Given the description of an element on the screen output the (x, y) to click on. 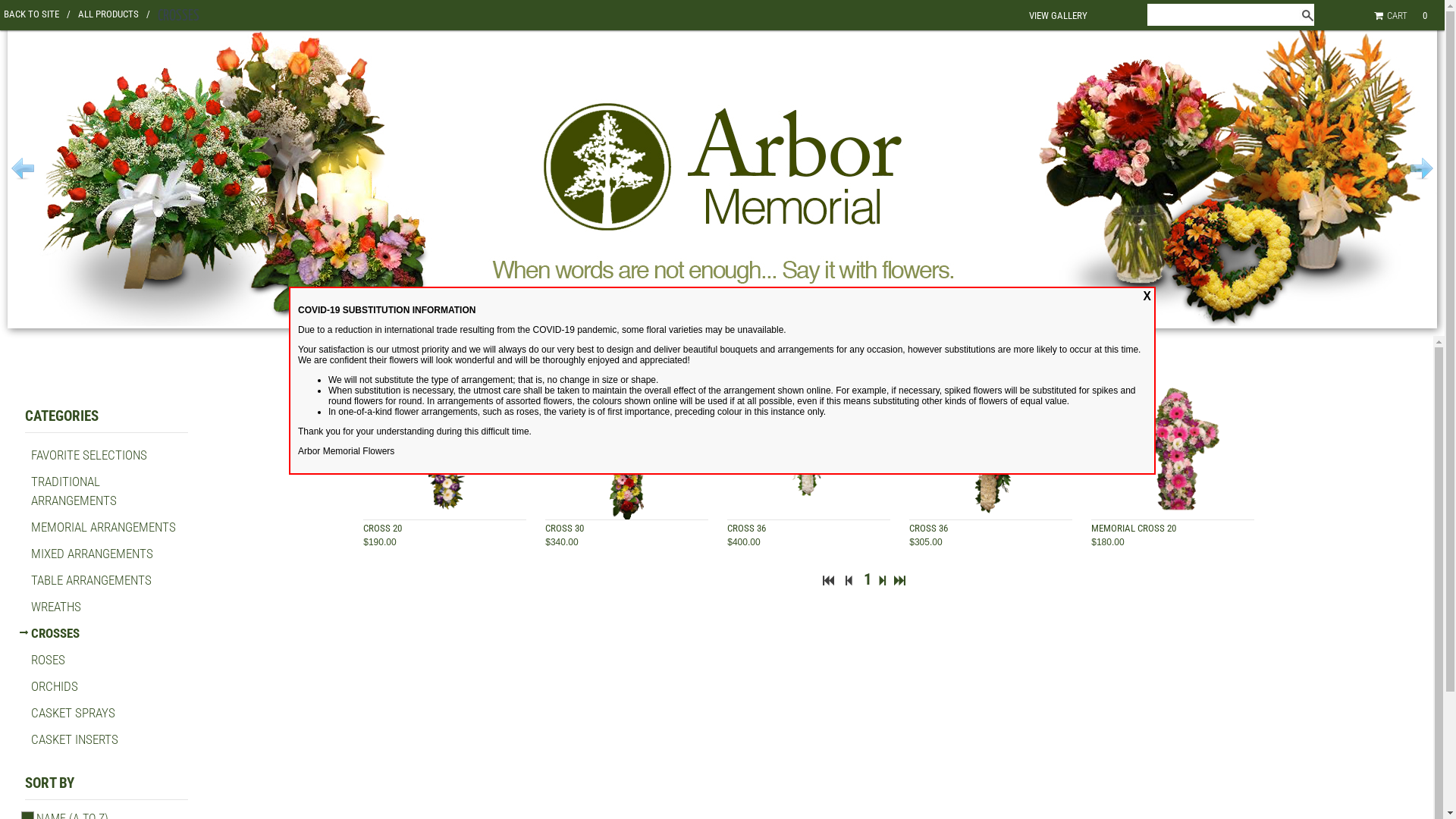
ORCHIDS Element type: text (54, 685)
$190.00 Element type: text (379, 541)
$305.00 Element type: text (925, 541)
CROSS 36 Element type: text (746, 527)
TABLE ARRANGEMENTS Element type: text (91, 579)
MEMORIAL ARRANGEMENTS Element type: text (103, 526)
$400.00 Element type: text (743, 541)
MIXED ARRANGEMENTS Element type: text (92, 553)
CASKET SPRAYS Element type: text (73, 712)
BACK TO SITE Element type: text (36, 13)
VIEW GALLERY Element type: text (1058, 15)
MEMORIAL CROSS 20 Element type: text (1133, 527)
CROSS 30 Element type: text (564, 527)
CROSS 20 Element type: text (382, 527)
ROSES Element type: text (48, 659)
FAVORITE SELECTIONS Element type: text (89, 454)
$180.00 Element type: text (1107, 541)
CROSS 36 Element type: text (928, 527)
TRADITIONAL ARRANGEMENTS Element type: text (73, 490)
CROSSES Element type: text (55, 632)
ALL PRODUCTS Element type: text (114, 13)
CASKET INSERTS Element type: text (74, 738)
WREATHS Element type: text (56, 606)
$340.00 Element type: text (561, 541)
CART Element type: text (1393, 15)
